Given the description of an element on the screen output the (x, y) to click on. 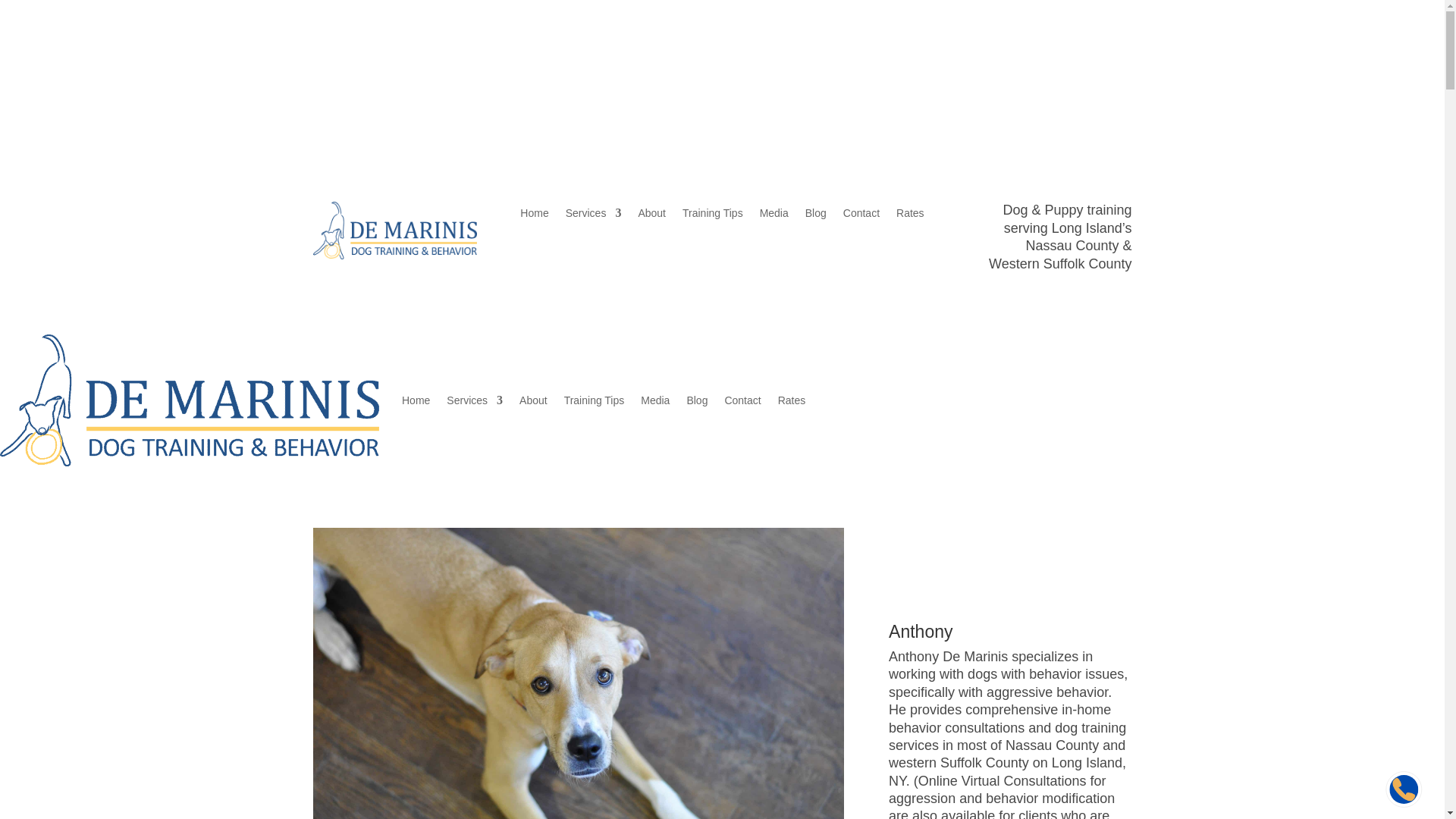
Contact (861, 216)
Blog (816, 216)
Training Tips (712, 216)
Media (774, 216)
Services (593, 216)
Send an Email (1086, 69)
Rates (910, 216)
Home (533, 216)
Call us (1002, 69)
About (651, 216)
